Given the description of an element on the screen output the (x, y) to click on. 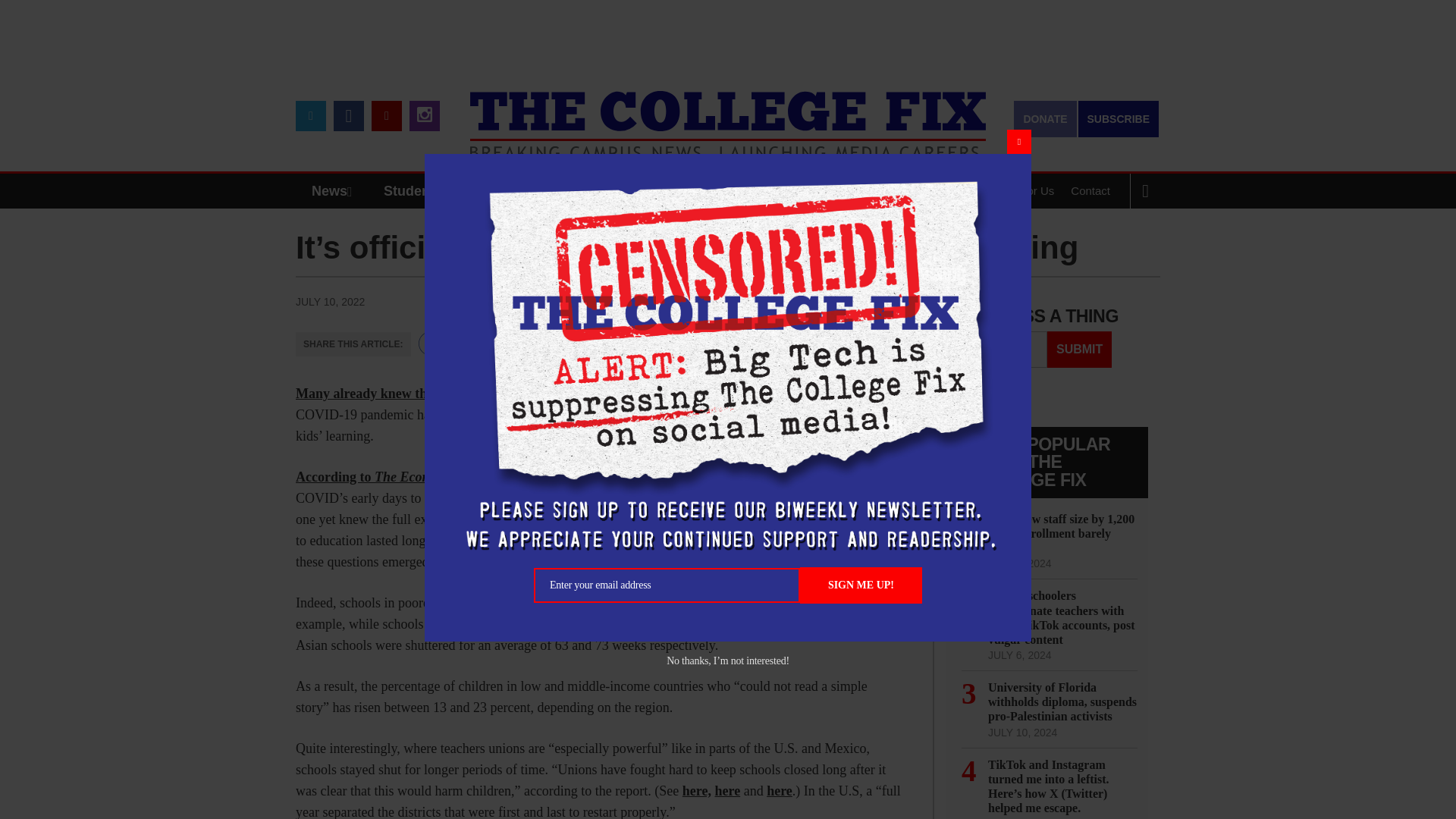
MERCHANDISE (577, 190)
SUBSCRIBE (1118, 118)
Student Reporters (443, 190)
News (335, 190)
DONATE (1044, 118)
Submit (1079, 349)
About The Fix (938, 190)
The College Fix (727, 114)
